Given the description of an element on the screen output the (x, y) to click on. 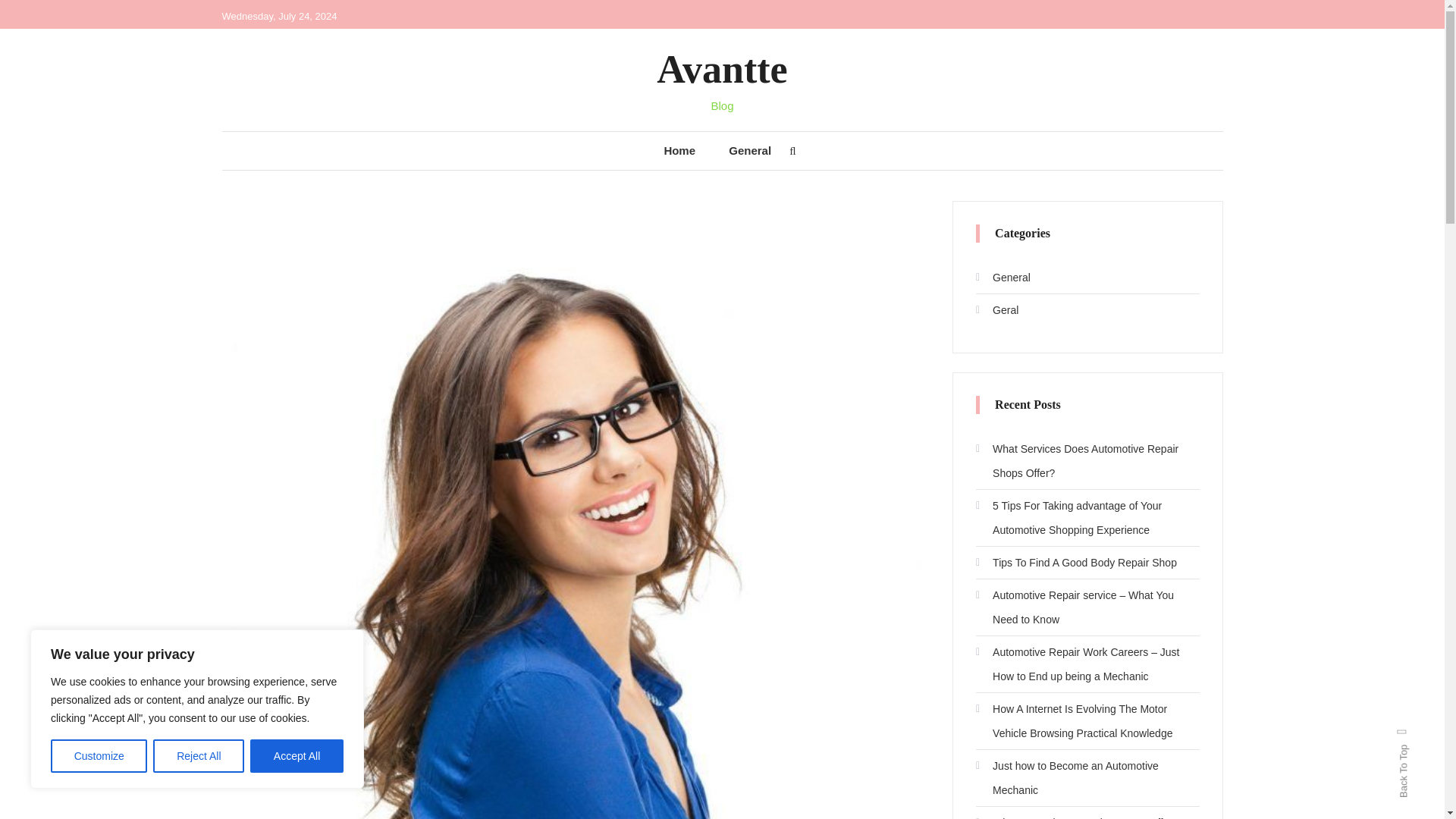
Customize (98, 756)
Home (678, 150)
Accept All (296, 756)
Geral (996, 310)
What Services Does Automotive Repair Shops Offer? (1086, 460)
Tips To Find A Good Body Repair Shop (1075, 562)
Avantte (721, 68)
General (749, 150)
General (1002, 277)
Reject All (198, 756)
